Given the description of an element on the screen output the (x, y) to click on. 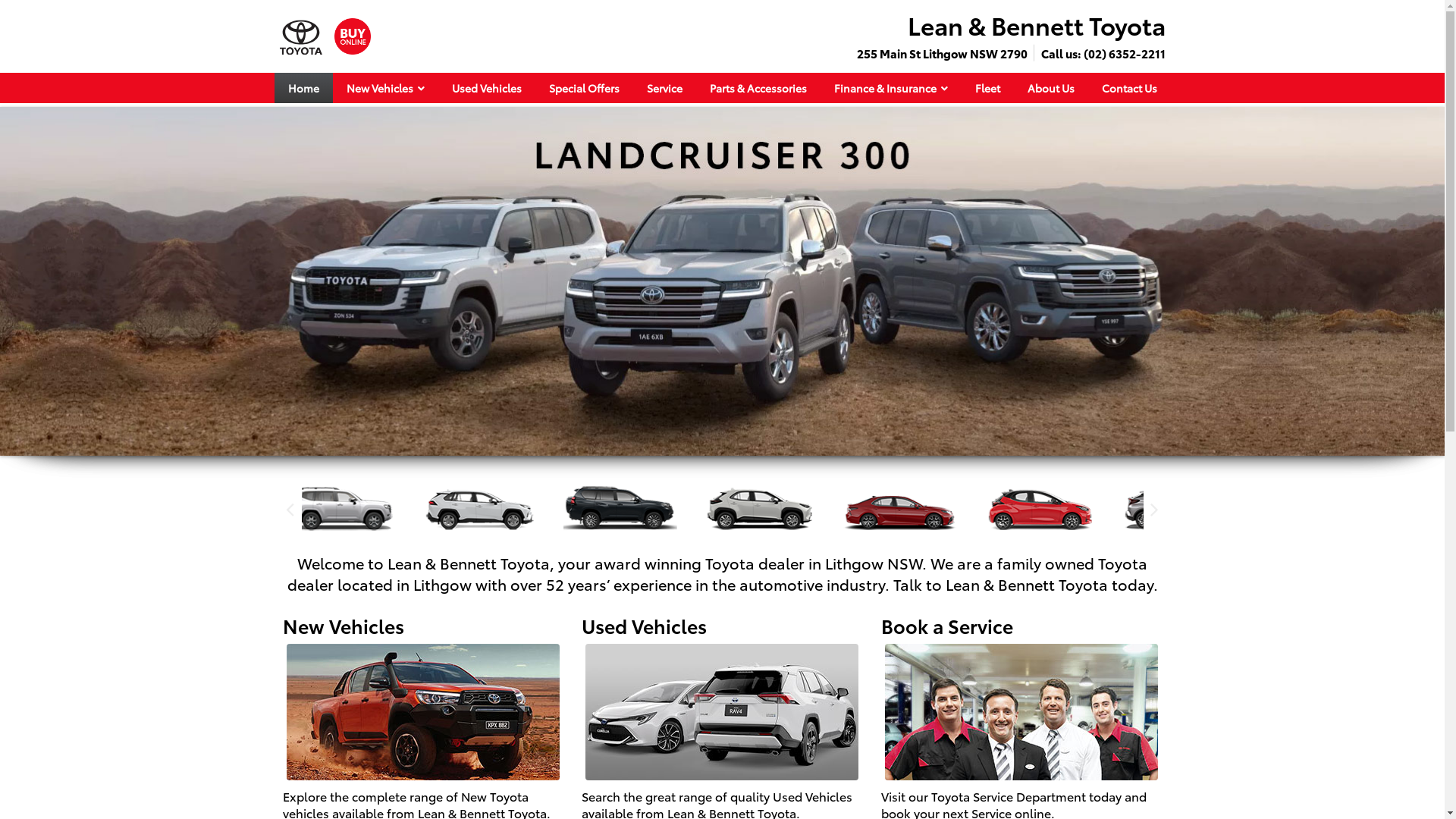
Special Offers Element type: text (584, 87)
About Us Element type: text (1050, 87)
Used Vehicles Element type: text (486, 87)
New Vehicles Element type: text (384, 87)
Finance & Insurance Element type: text (890, 87)
Service Element type: text (663, 87)
Parts & Accessories Element type: text (758, 87)
Home Element type: text (303, 87)
Contact Us Element type: text (1128, 87)
(02) 6352-2211 Element type: text (1123, 52)
Fleet Element type: text (987, 87)
